Given the description of an element on the screen output the (x, y) to click on. 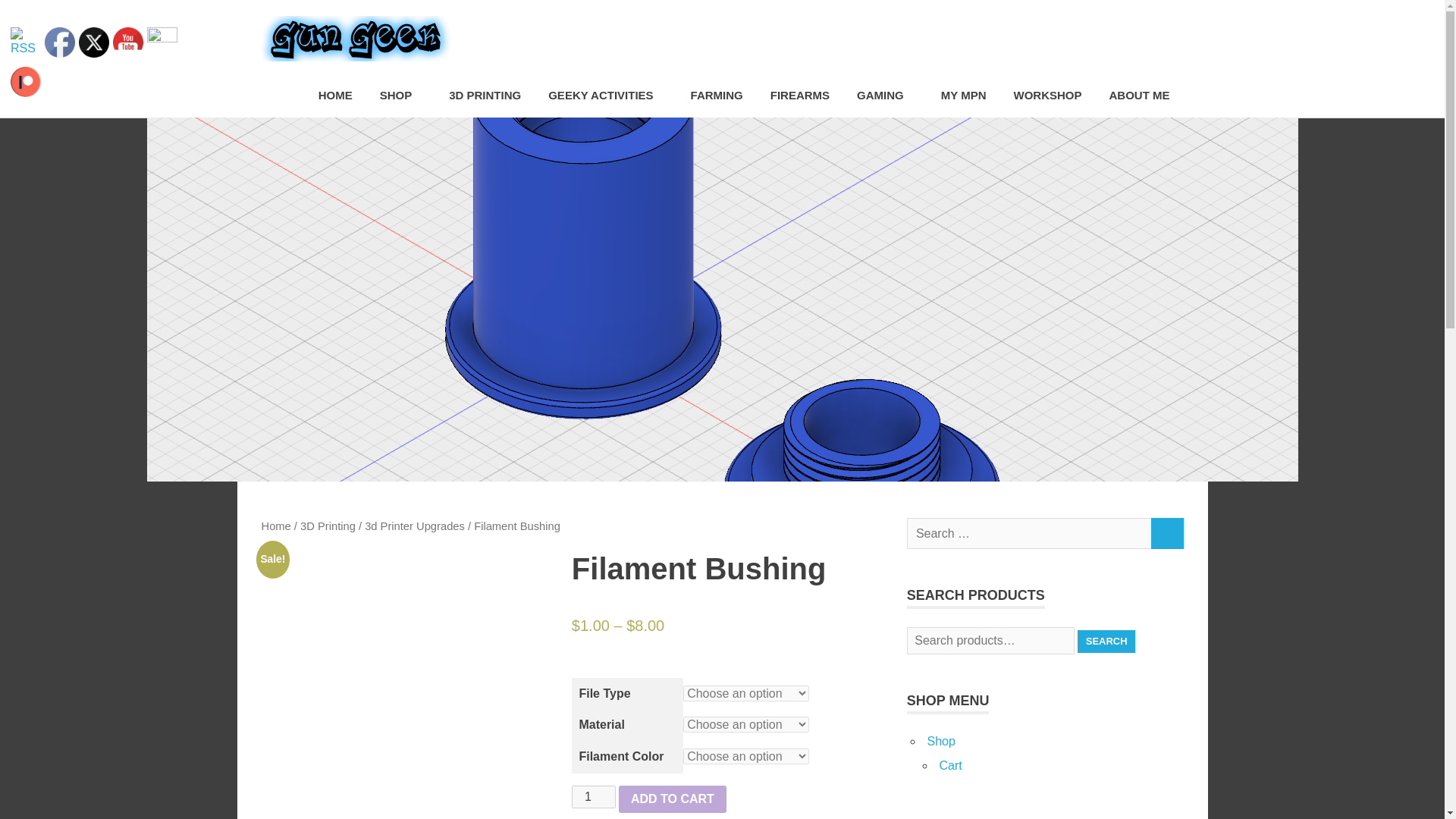
YouTube (127, 42)
FIREARMS (800, 95)
3d Printer Upgrades (414, 526)
Twitter (93, 42)
ADD TO CART (672, 799)
ABOUT ME (1138, 95)
GEEKY ACTIVITIES (605, 95)
3D PRINTING (484, 95)
RSS (25, 42)
Facebook (60, 42)
